Given the description of an element on the screen output the (x, y) to click on. 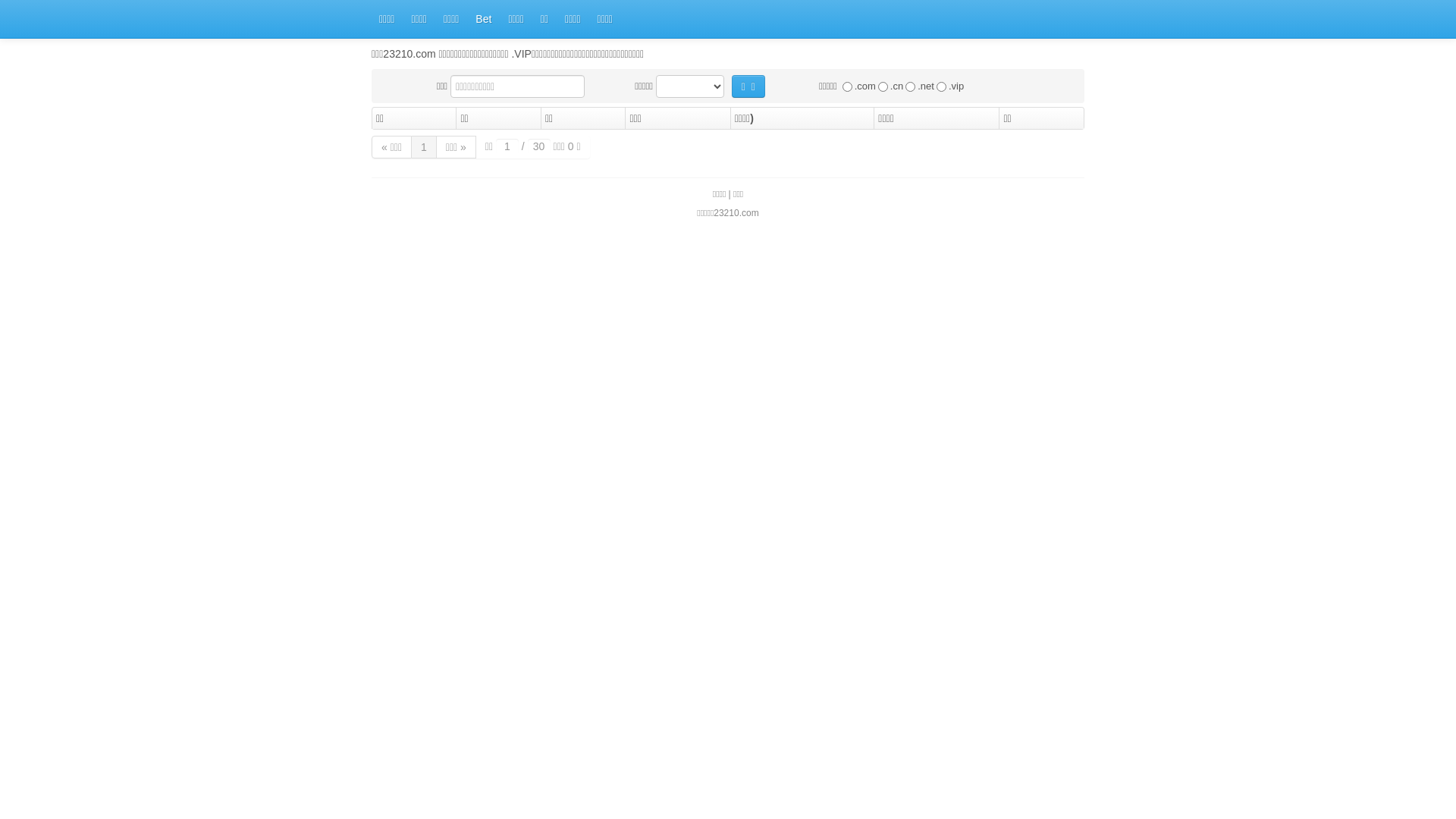
30 Element type: text (538, 145)
.net Element type: text (910, 86)
Bet Element type: text (482, 17)
.vip Element type: text (941, 86)
1 Element type: text (506, 145)
.cn Element type: text (883, 86)
1 Element type: text (423, 146)
.com Element type: text (847, 86)
